Given the description of an element on the screen output the (x, y) to click on. 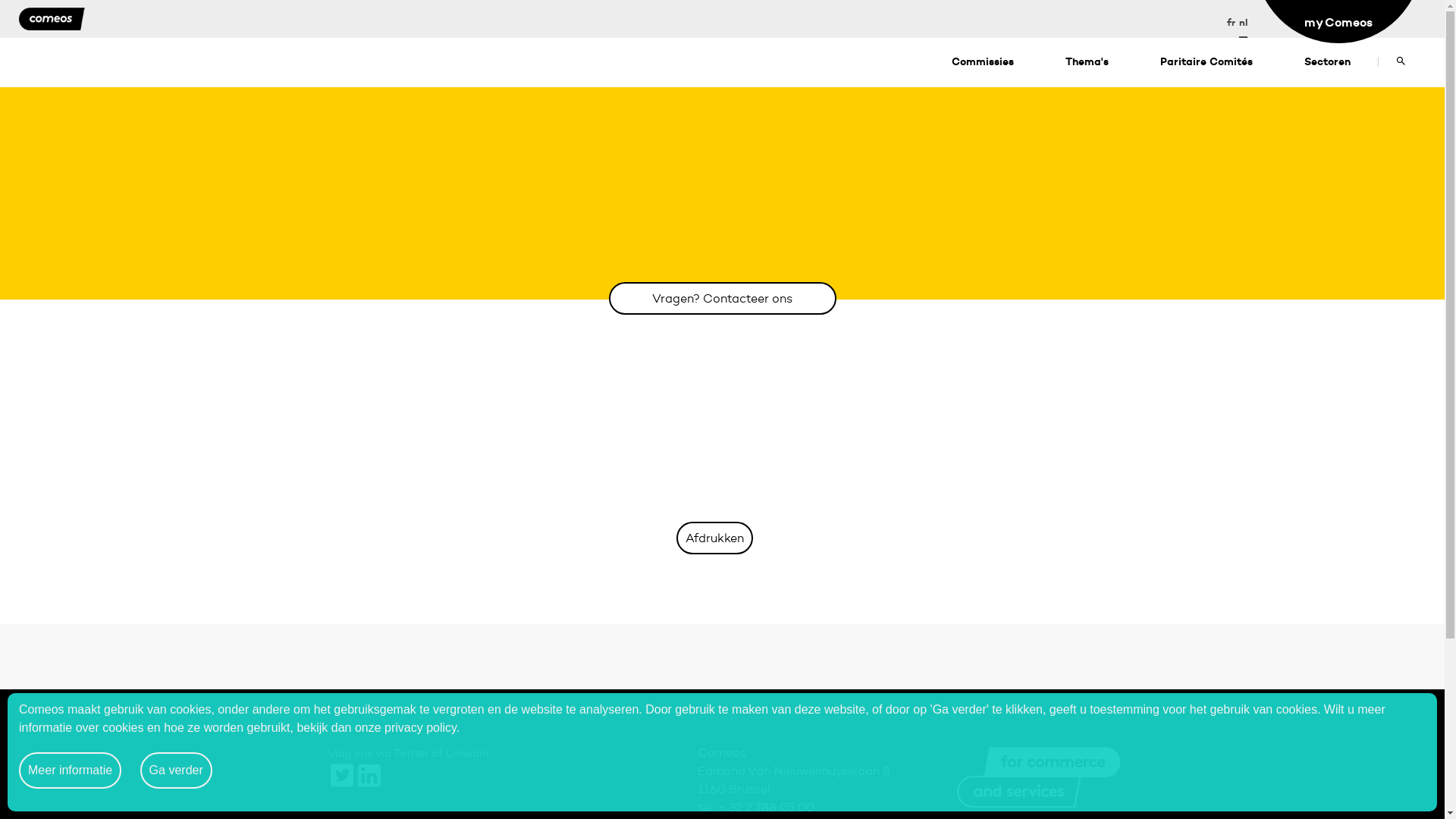
nl Element type: text (1243, 18)
fr Element type: text (1230, 18)
Ga verder Element type: text (176, 770)
Afdrukken Element type: text (714, 537)
Thema's Element type: text (1086, 62)
Commissies Element type: text (982, 62)
Meer informatie Element type: text (69, 770)
Sectoren Element type: text (1327, 62)
